Given the description of an element on the screen output the (x, y) to click on. 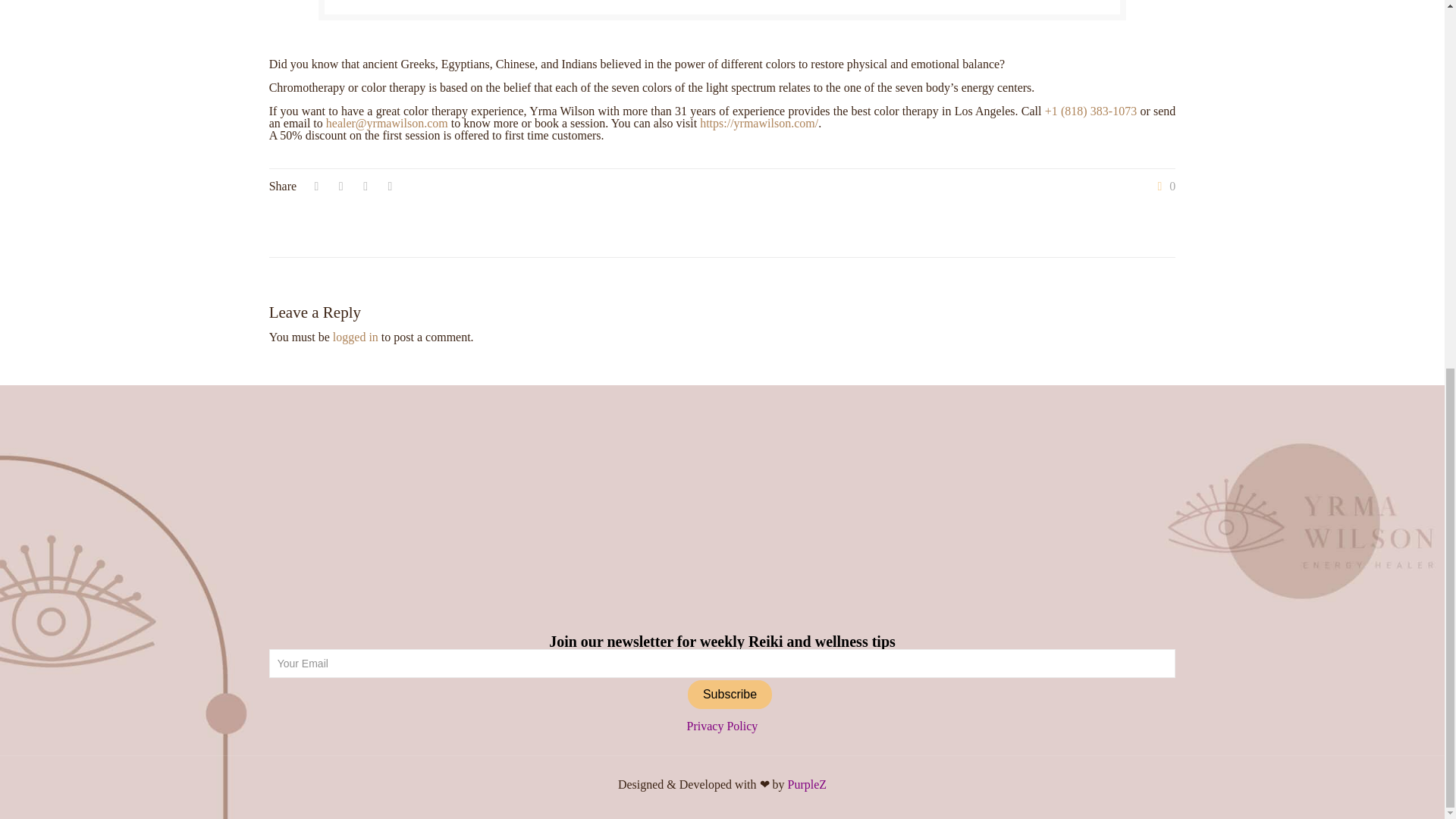
Privacy Policy (722, 725)
0 (1162, 186)
Subscribe (729, 694)
Subscribe (729, 694)
logged in (355, 336)
PurpleZ (807, 784)
